Given the description of an element on the screen output the (x, y) to click on. 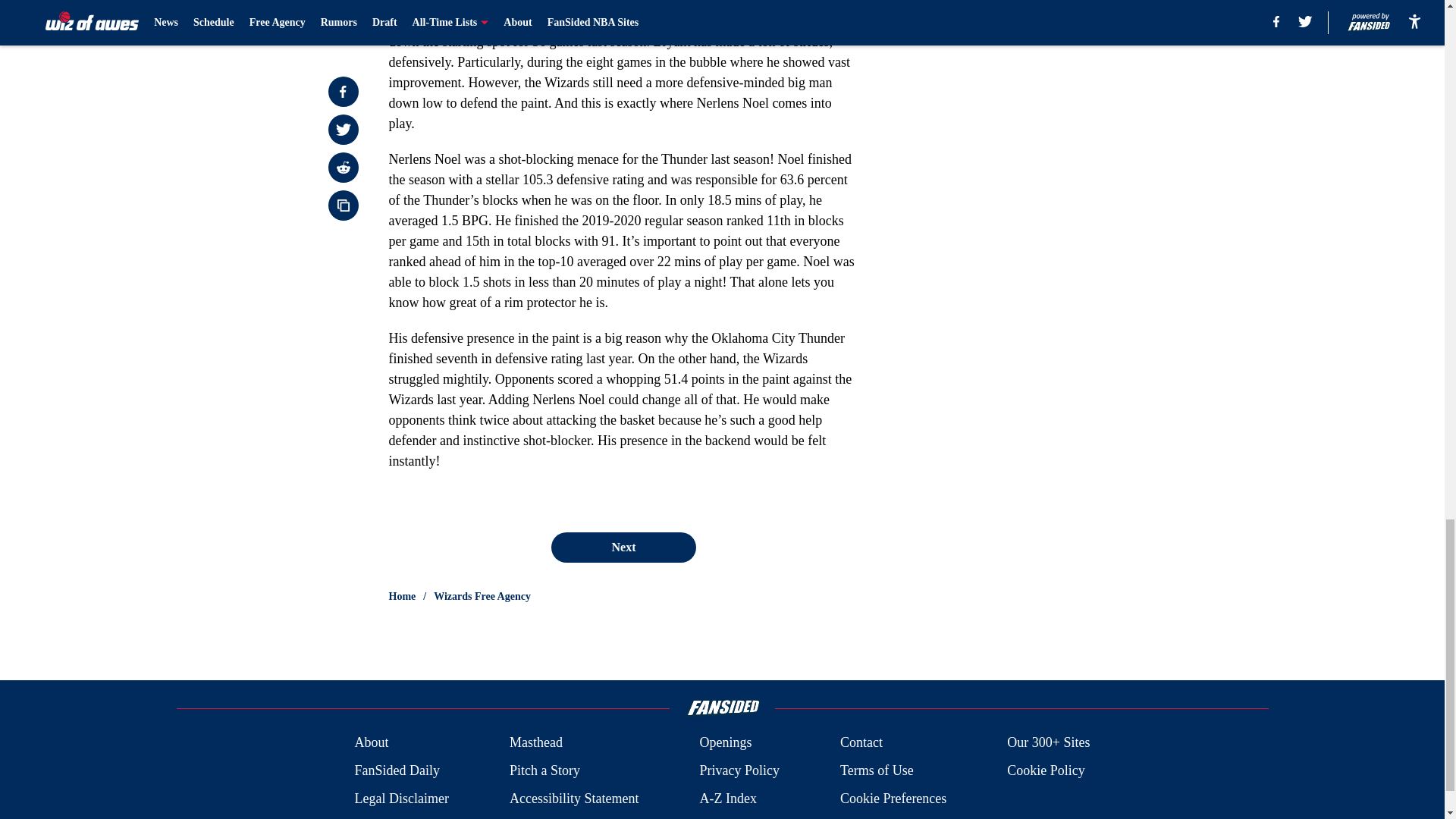
Wizards Free Agency (482, 596)
Contact (861, 742)
Masthead (535, 742)
FanSided Daily (396, 770)
Pitch a Story (544, 770)
Next (622, 547)
About (370, 742)
Home (401, 596)
Openings (724, 742)
Privacy Policy (738, 770)
